Given the description of an element on the screen output the (x, y) to click on. 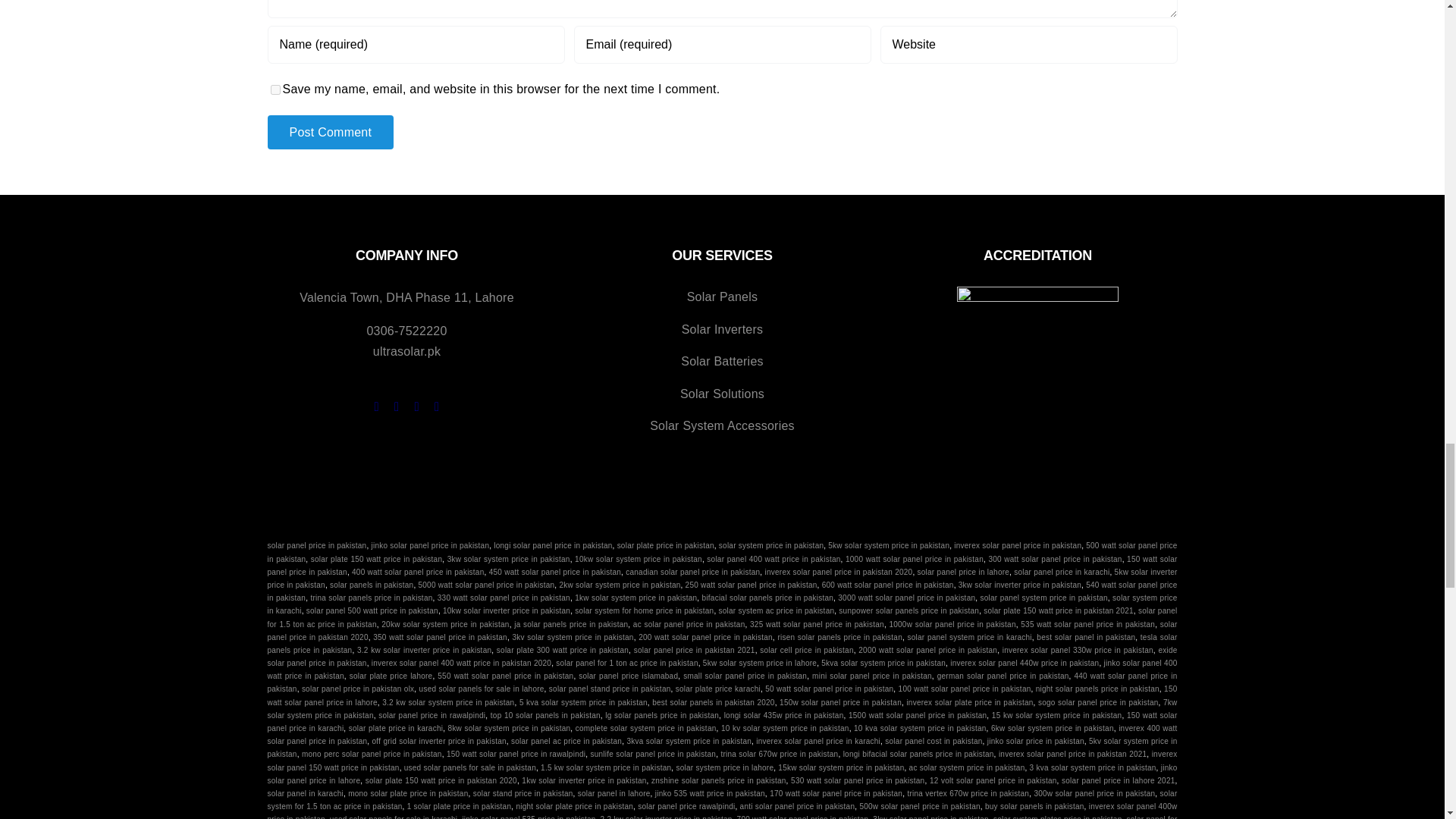
Post Comment (329, 132)
yes (274, 90)
